Given the description of an element on the screen output the (x, y) to click on. 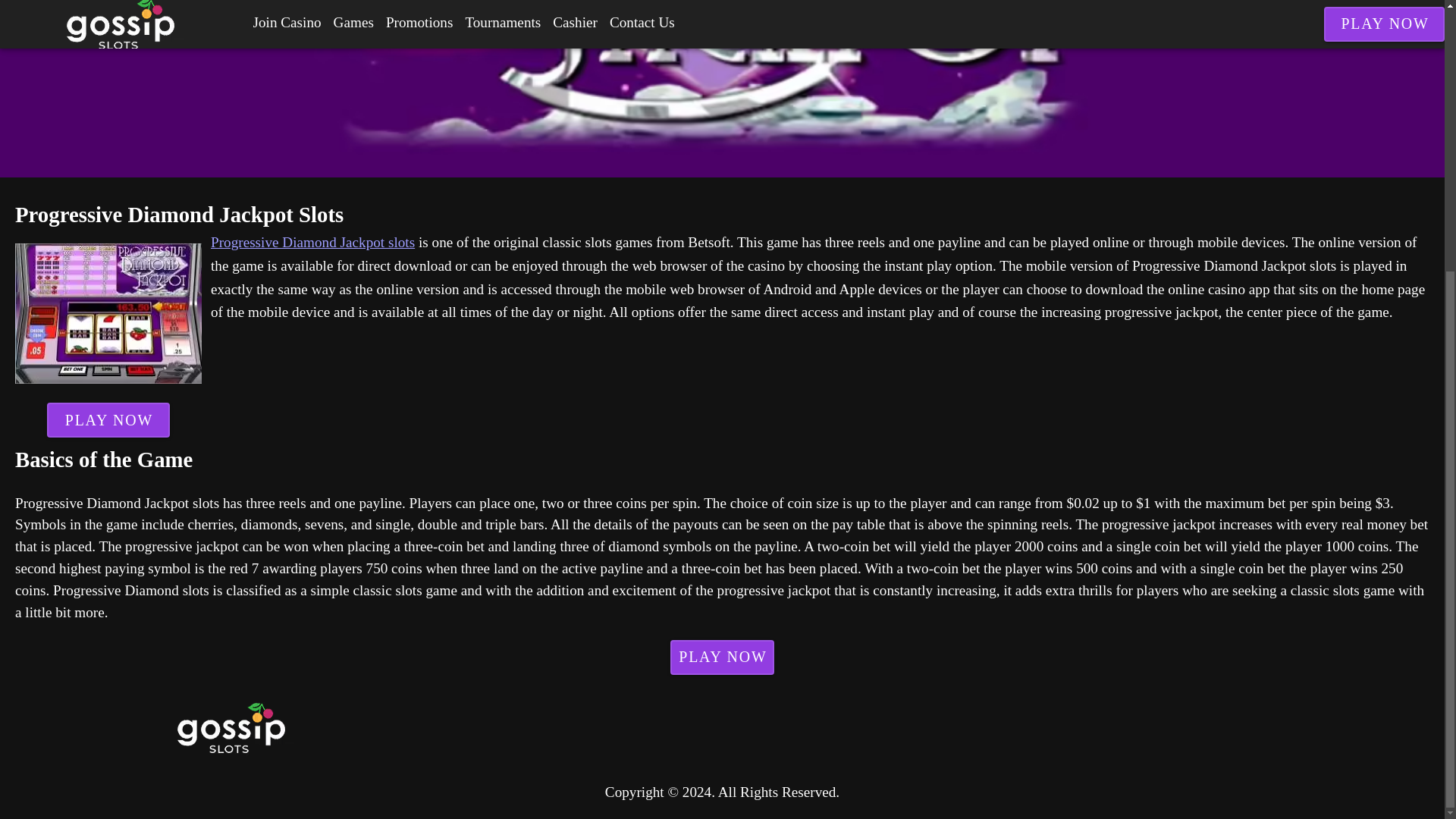
PLAY NOW (721, 656)
PLAY NOW (108, 419)
Progressive Diamond Jackpot slots (312, 242)
